Given the description of an element on the screen output the (x, y) to click on. 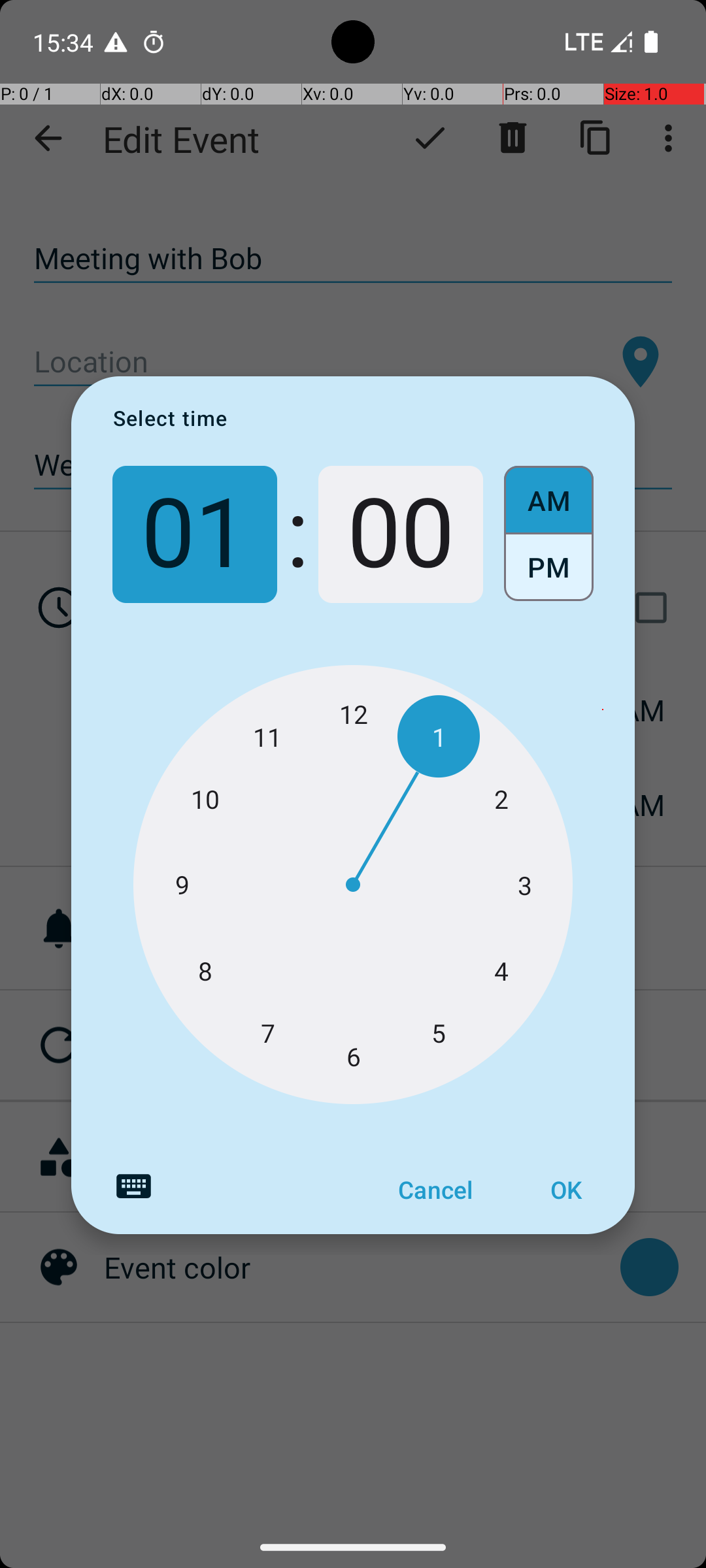
01 Element type: android.view.View (194, 534)
Select AM or PM Element type: android.widget.LinearLayout (548, 534)
